Given the description of an element on the screen output the (x, y) to click on. 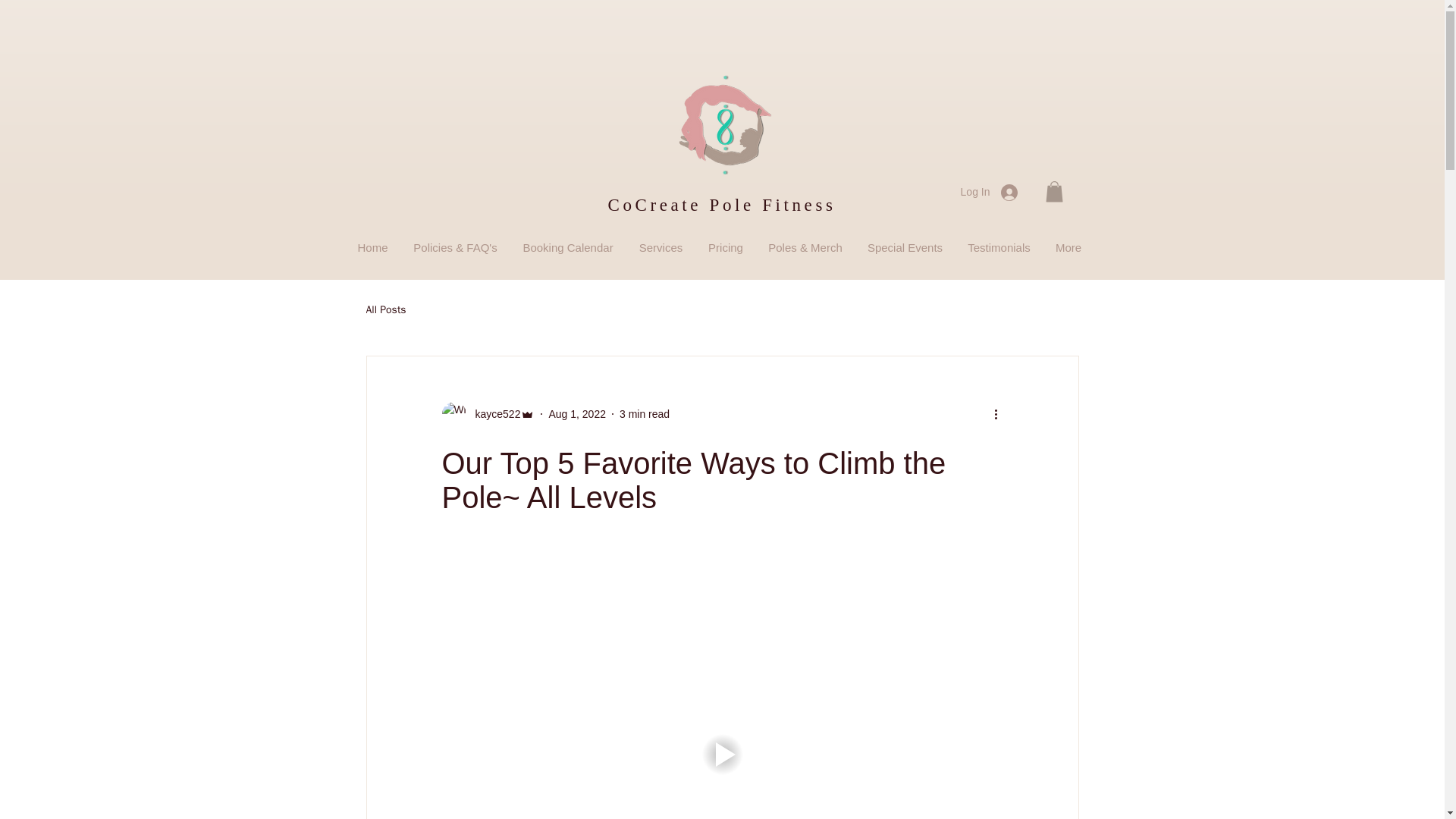
Log In (988, 191)
Home (371, 247)
Aug 1, 2022 (576, 413)
kayce522 (487, 413)
Services (660, 247)
Booking Calendar (567, 247)
3 min read (644, 413)
Pricing (725, 247)
Testimonials (999, 247)
Special Events (905, 247)
